Given the description of an element on the screen output the (x, y) to click on. 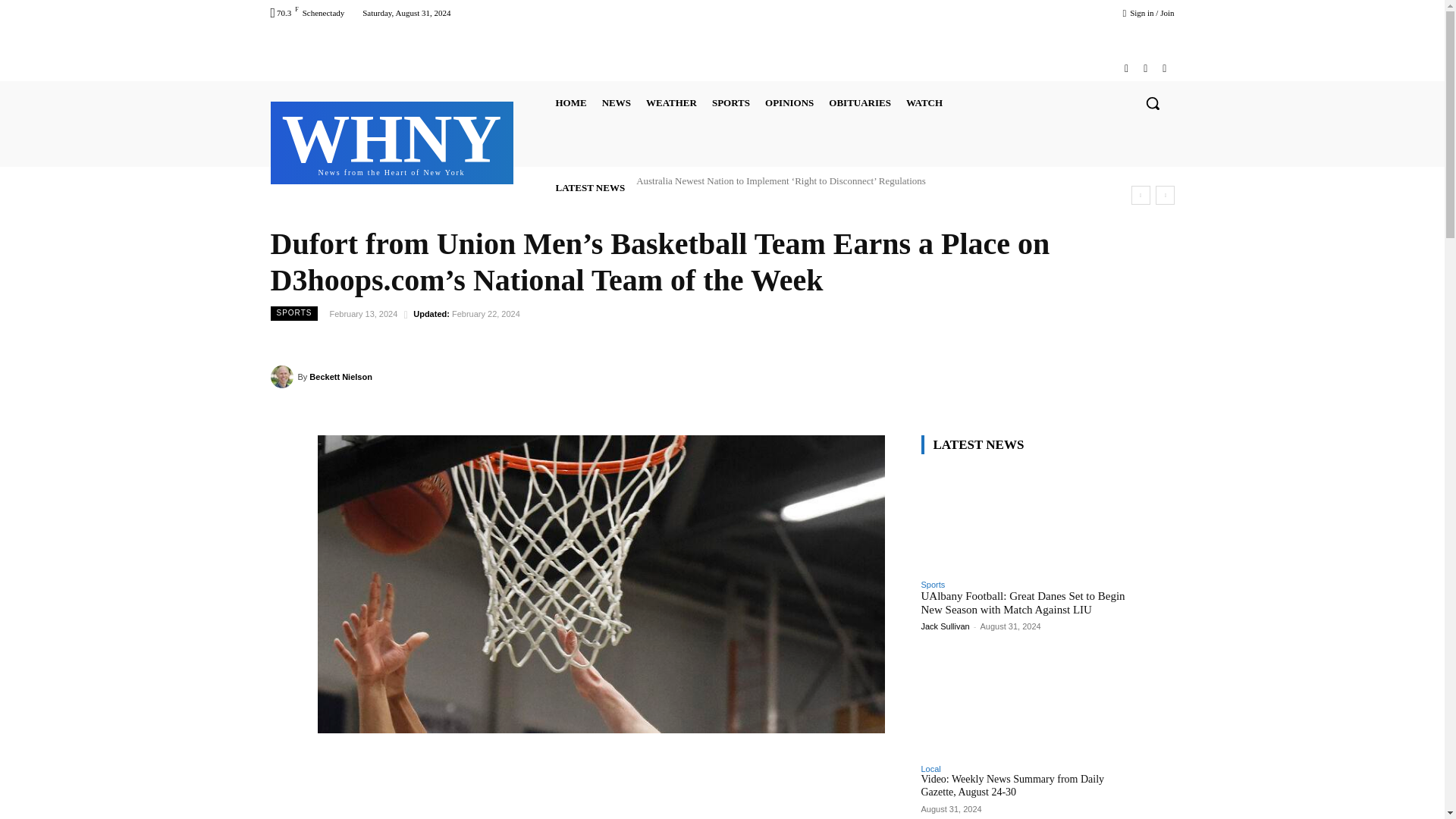
RSS Feed (392, 140)
Instagram (1163, 67)
HOME (1125, 67)
NEWS (570, 102)
Twitter (616, 102)
